Given the description of an element on the screen output the (x, y) to click on. 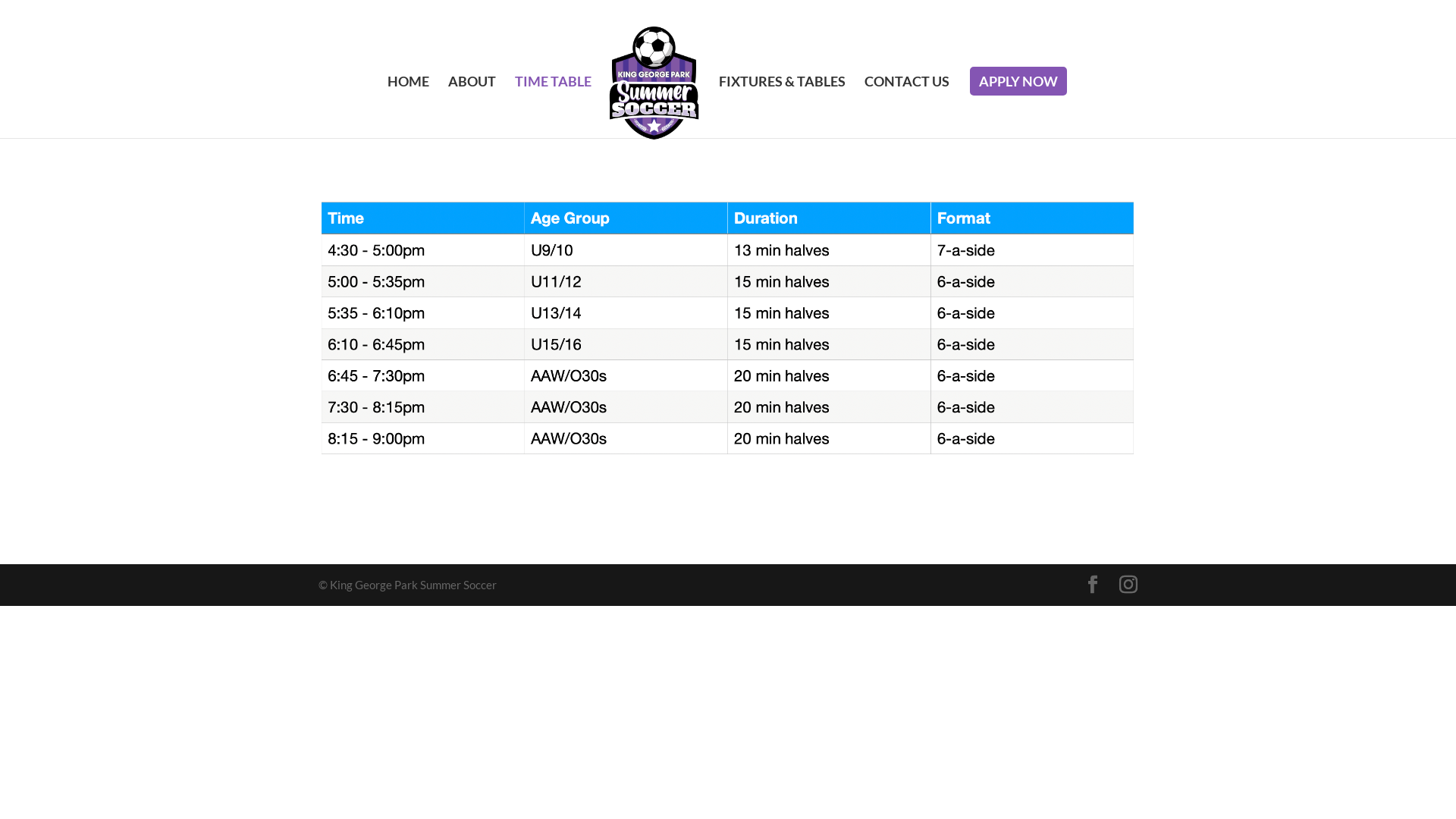
TIME TABLE Element type: text (552, 106)
CONTACT US Element type: text (906, 106)
Screenshot 2023-07-12 at 12.59.34 pm Element type: hover (727, 329)
APPLY NOW Element type: text (1018, 81)
ABOUT Element type: text (471, 106)
FIXTURES & TABLES Element type: text (781, 106)
HOME Element type: text (408, 106)
